Given the description of an element on the screen output the (x, y) to click on. 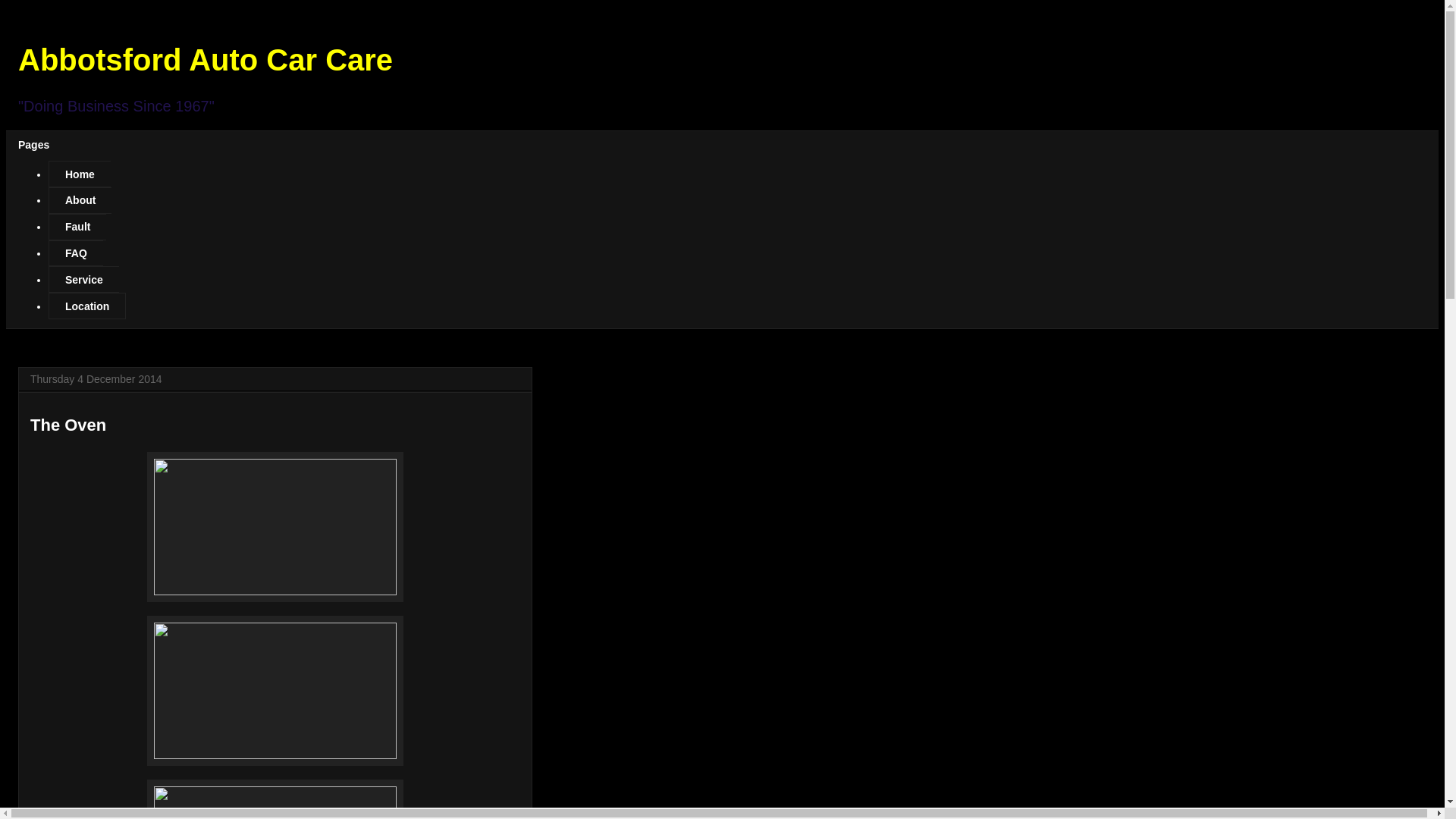
Service Element type: text (83, 279)
Home Element type: text (79, 173)
Fault Element type: text (77, 226)
Abbotsford Auto Car Care Element type: text (205, 59)
Location Element type: text (86, 305)
About Element type: text (79, 200)
FAQ Element type: text (75, 253)
